Given the description of an element on the screen output the (x, y) to click on. 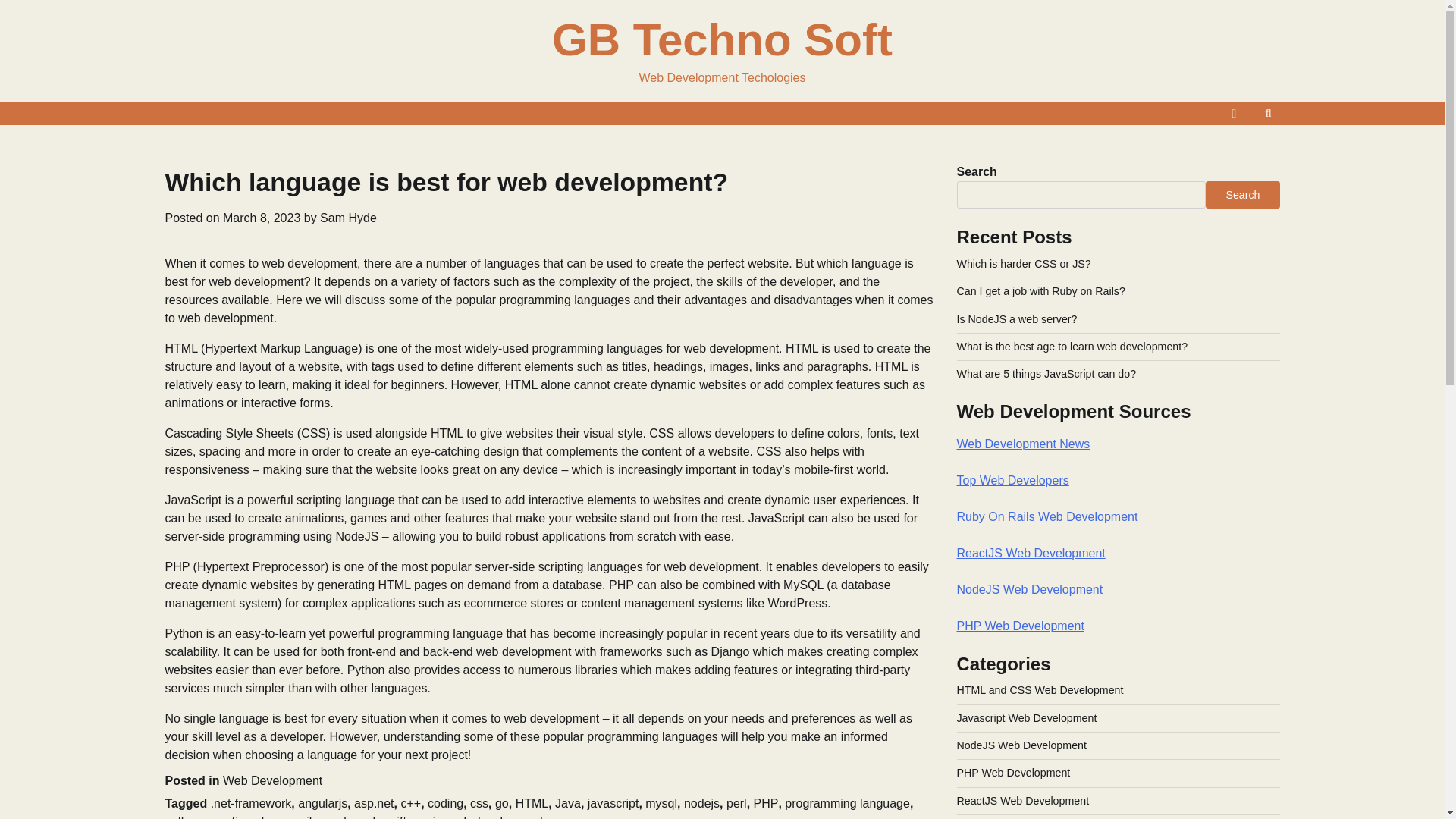
Web Development (271, 780)
Search (1242, 194)
March 8, 2023 (260, 217)
javascript (613, 802)
scala (338, 816)
Search (1268, 113)
coding (445, 802)
.net-framework (251, 802)
css (478, 802)
View Random Post (1234, 113)
